Given the description of an element on the screen output the (x, y) to click on. 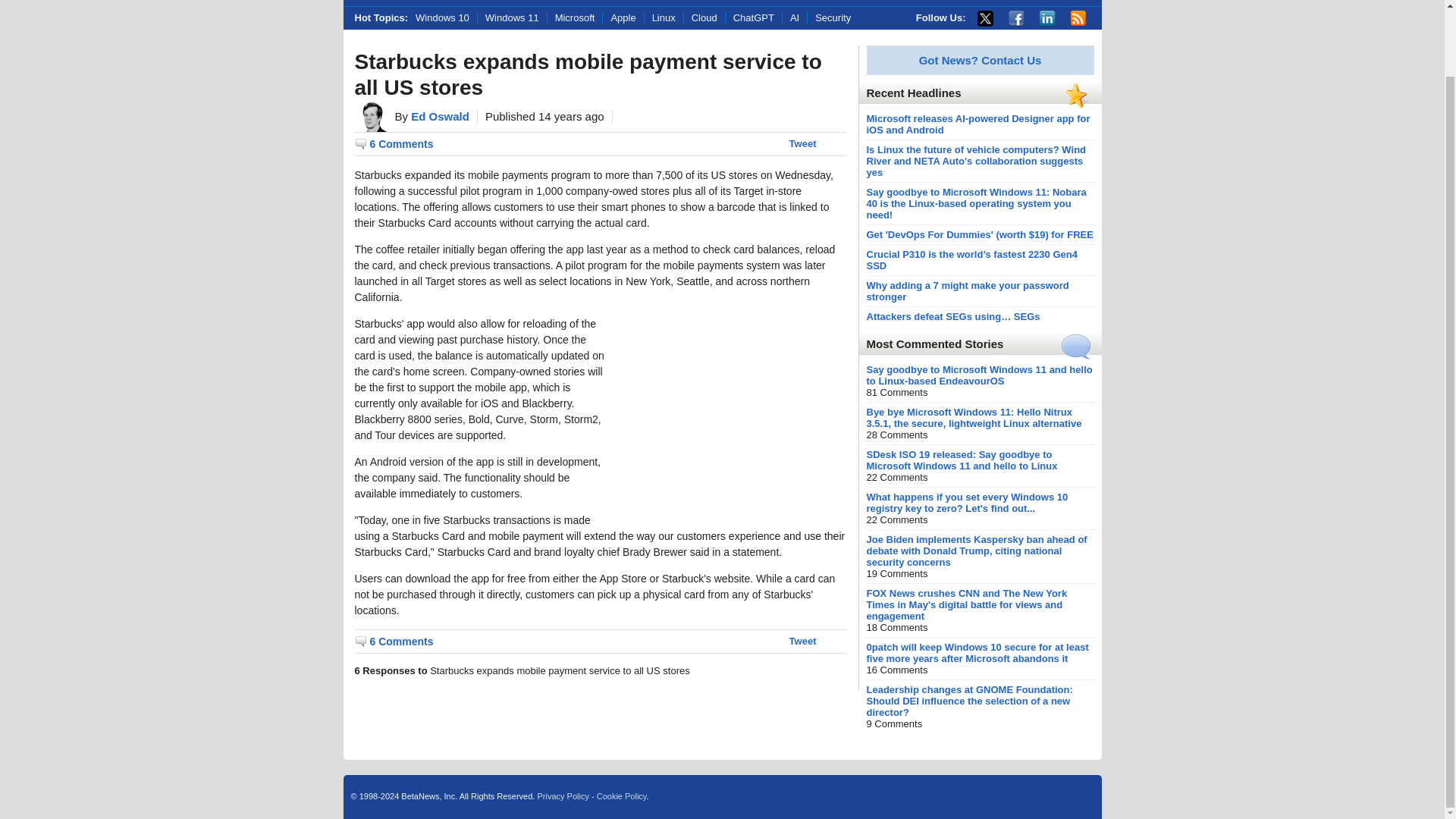
6 Comments (394, 641)
RSS (1078, 18)
Tweet (802, 143)
Ed Oswald (439, 115)
Got News? Contact Us (980, 60)
ChatGPT (753, 17)
RSS (1078, 18)
Windows 11 (512, 17)
Security (832, 17)
6 Comments (394, 143)
Why adding a 7 might make your password stronger (967, 291)
